Given the description of an element on the screen output the (x, y) to click on. 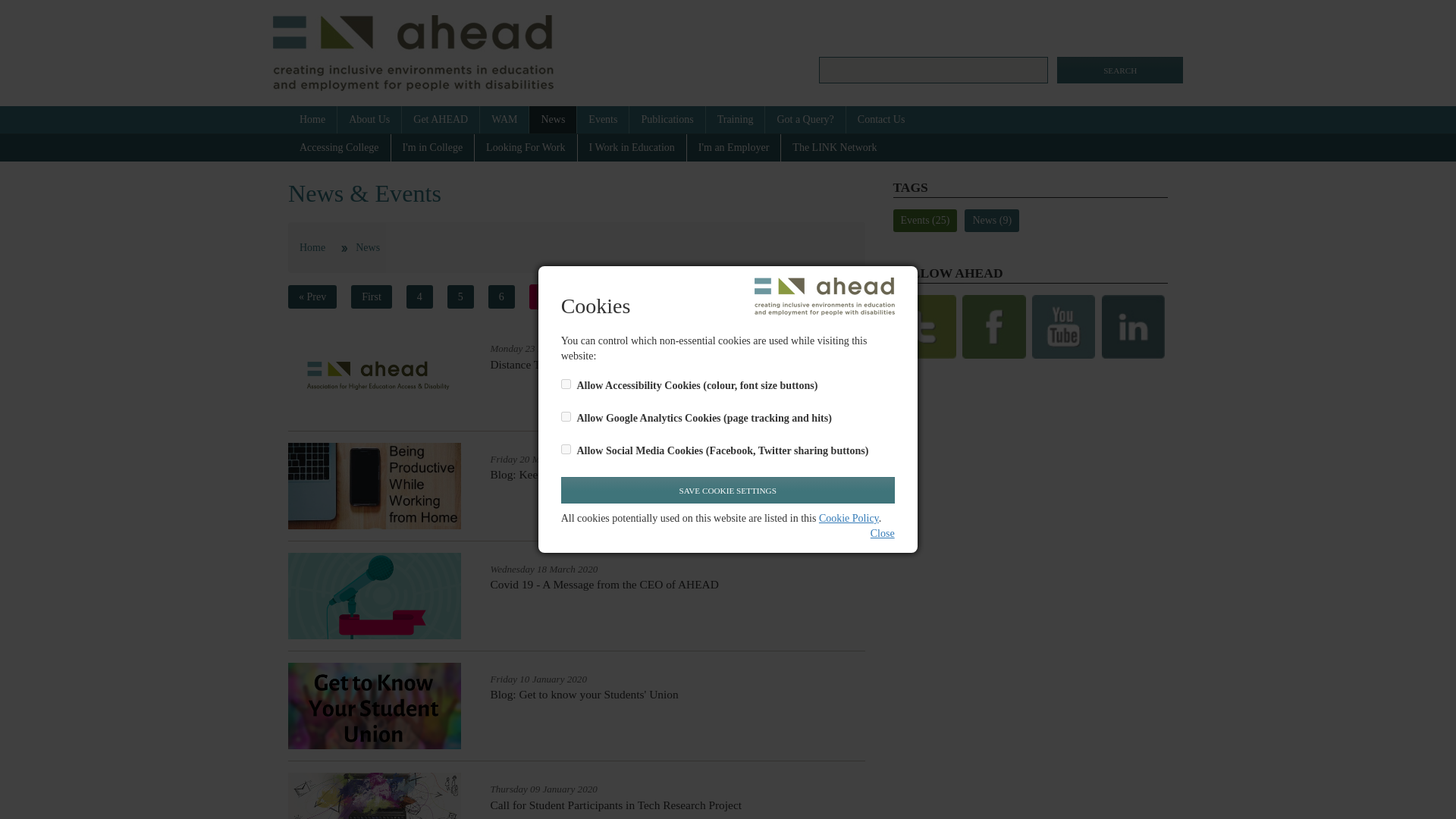
I Work in Education (632, 147)
I'm an Employer (734, 147)
6 (501, 296)
Got a Query? (805, 119)
Search (1119, 69)
Last (719, 296)
Accessing College (339, 147)
5 (460, 296)
Home (312, 119)
Save Cookie Settings (727, 489)
